Given the description of an element on the screen output the (x, y) to click on. 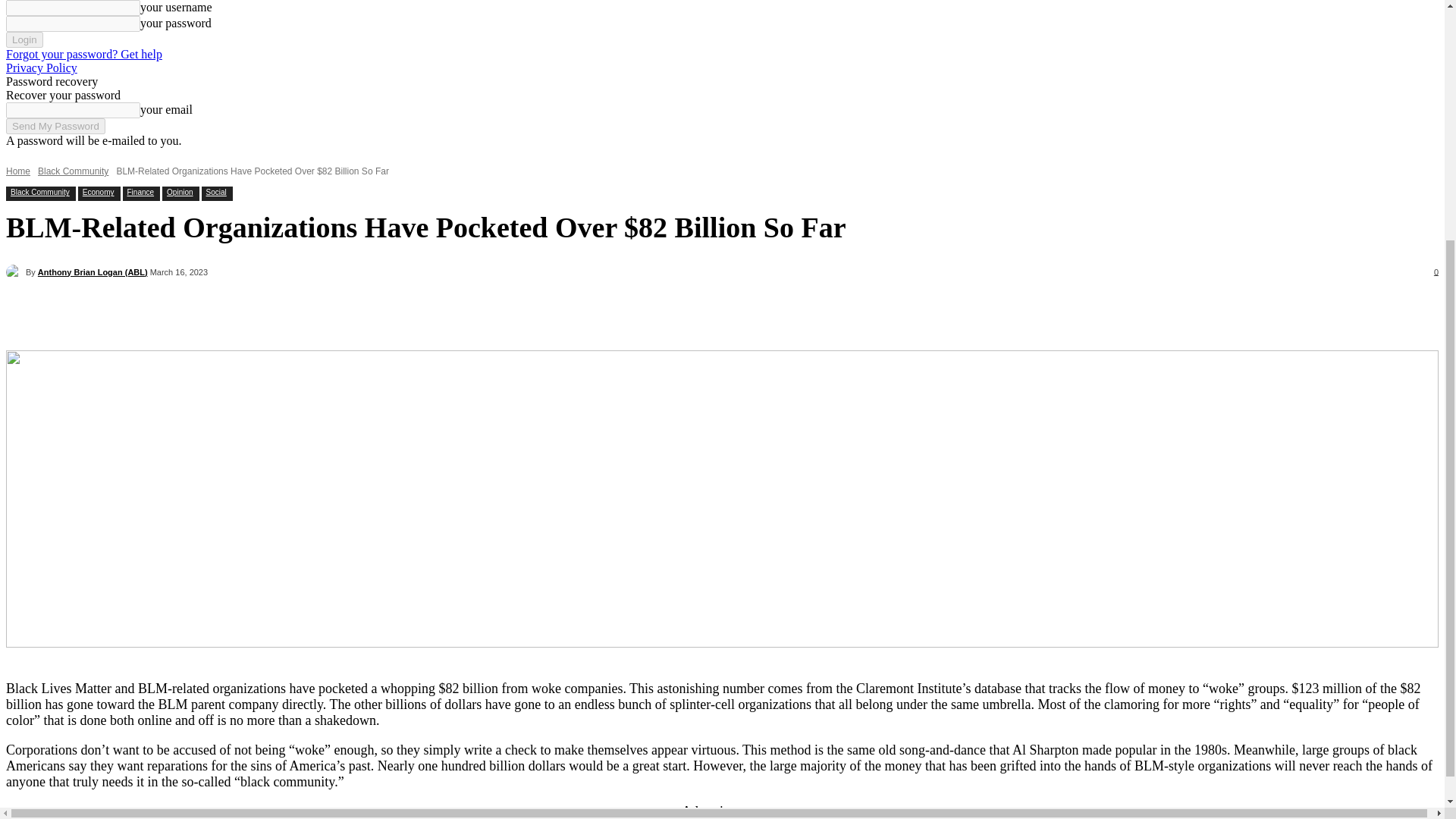
Login (24, 39)
View all posts in Black Community (72, 171)
Send My Password (54, 125)
